Given the description of an element on the screen output the (x, y) to click on. 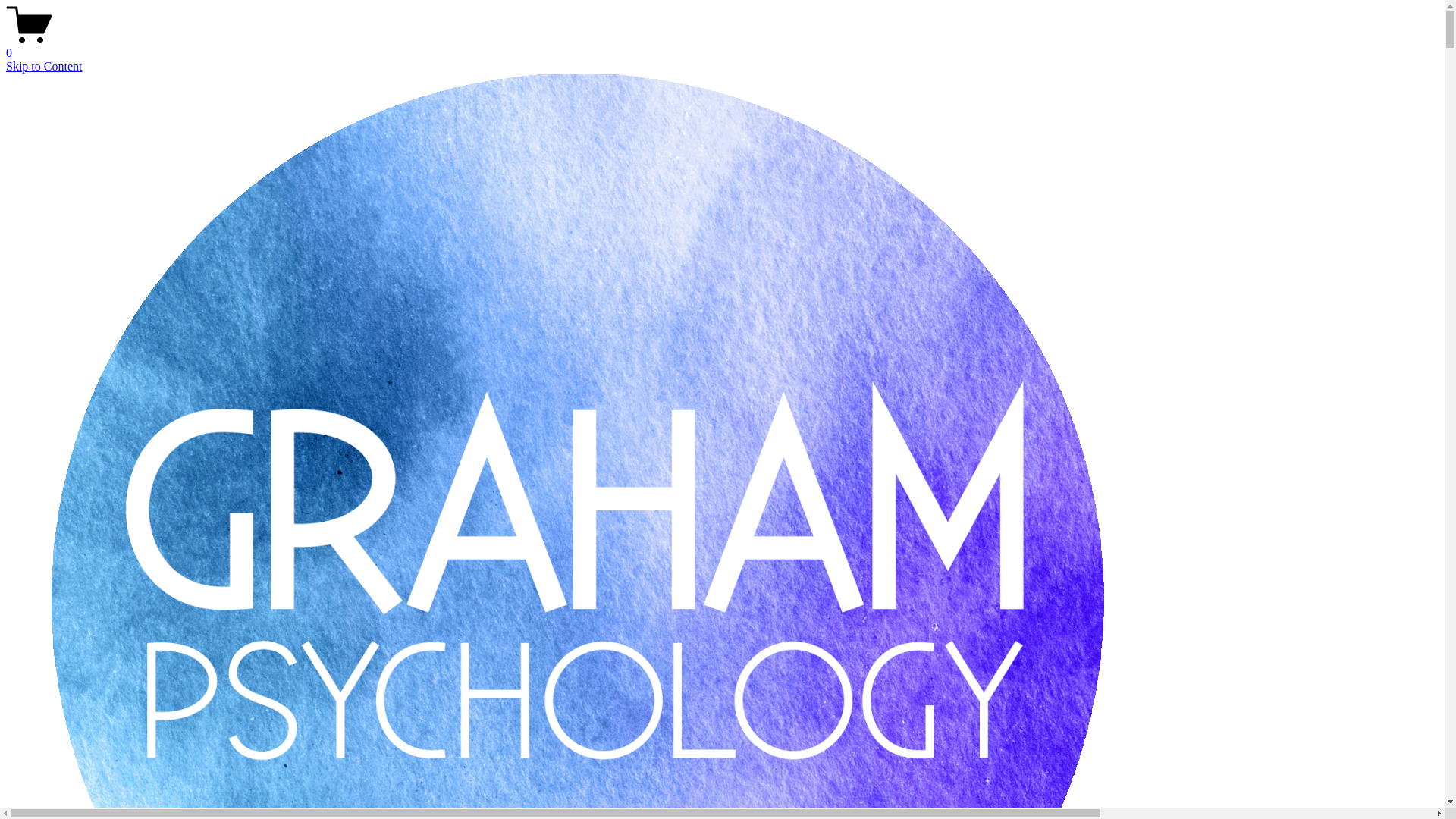
Skip to Content Element type: text (43, 65)
0 Element type: text (722, 45)
